Given the description of an element on the screen output the (x, y) to click on. 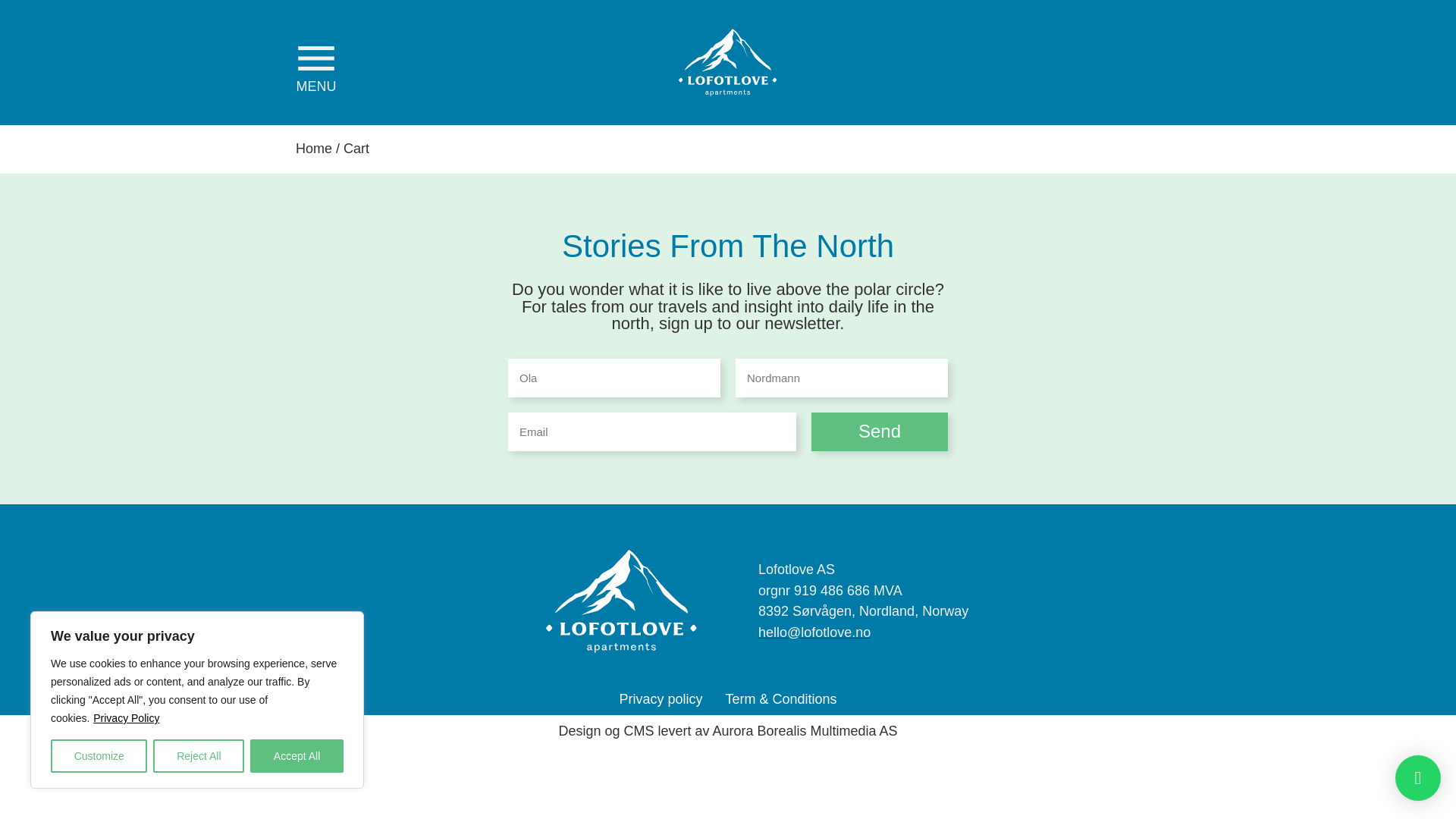
Send (878, 431)
Design og CMS levert av Aurora Borealis Multimedia AS (726, 730)
Privacy Policy (126, 717)
Home (313, 148)
Privacy policy (659, 698)
